Given the description of an element on the screen output the (x, y) to click on. 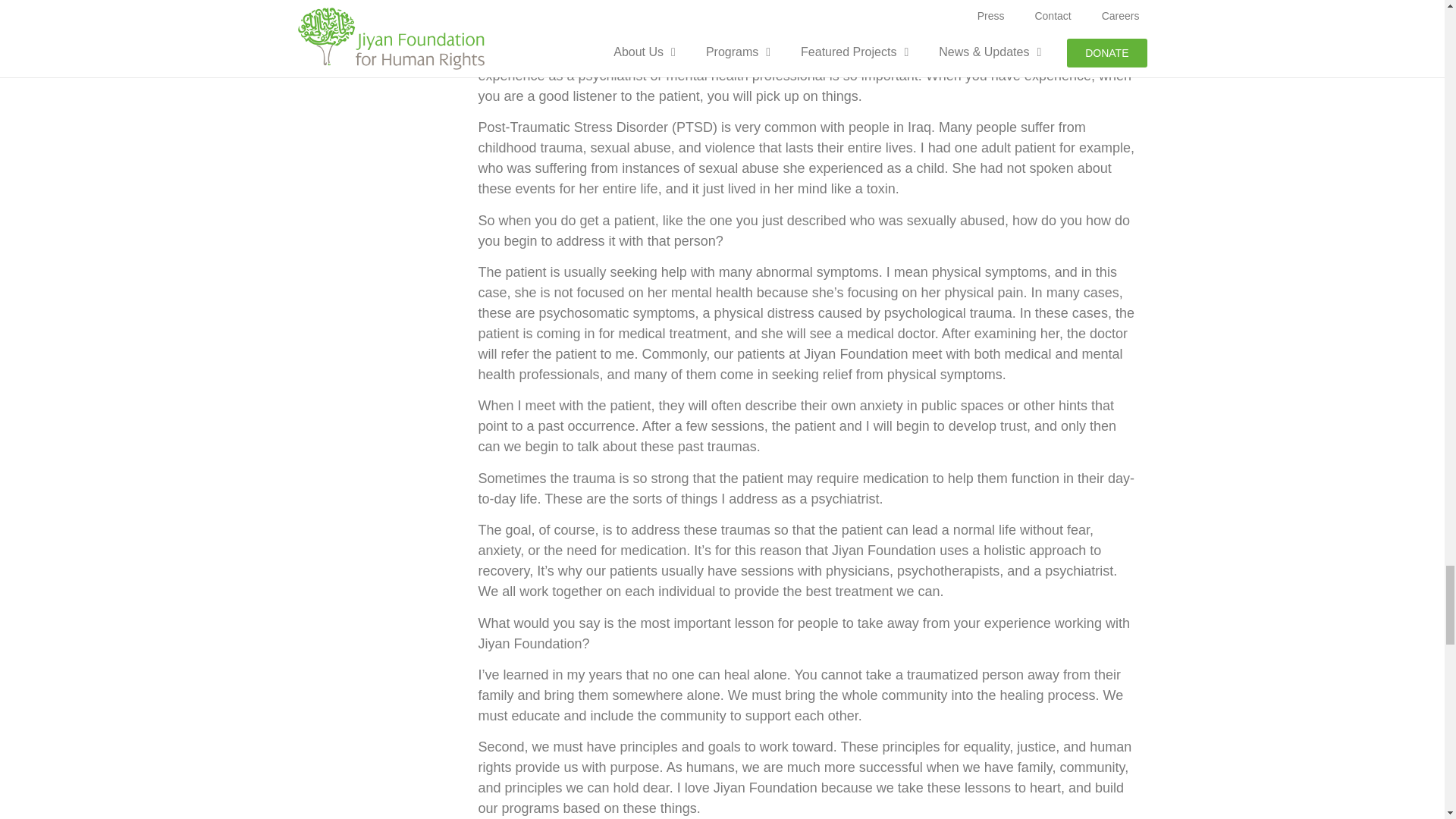
Page 14 (807, 742)
